Given the description of an element on the screen output the (x, y) to click on. 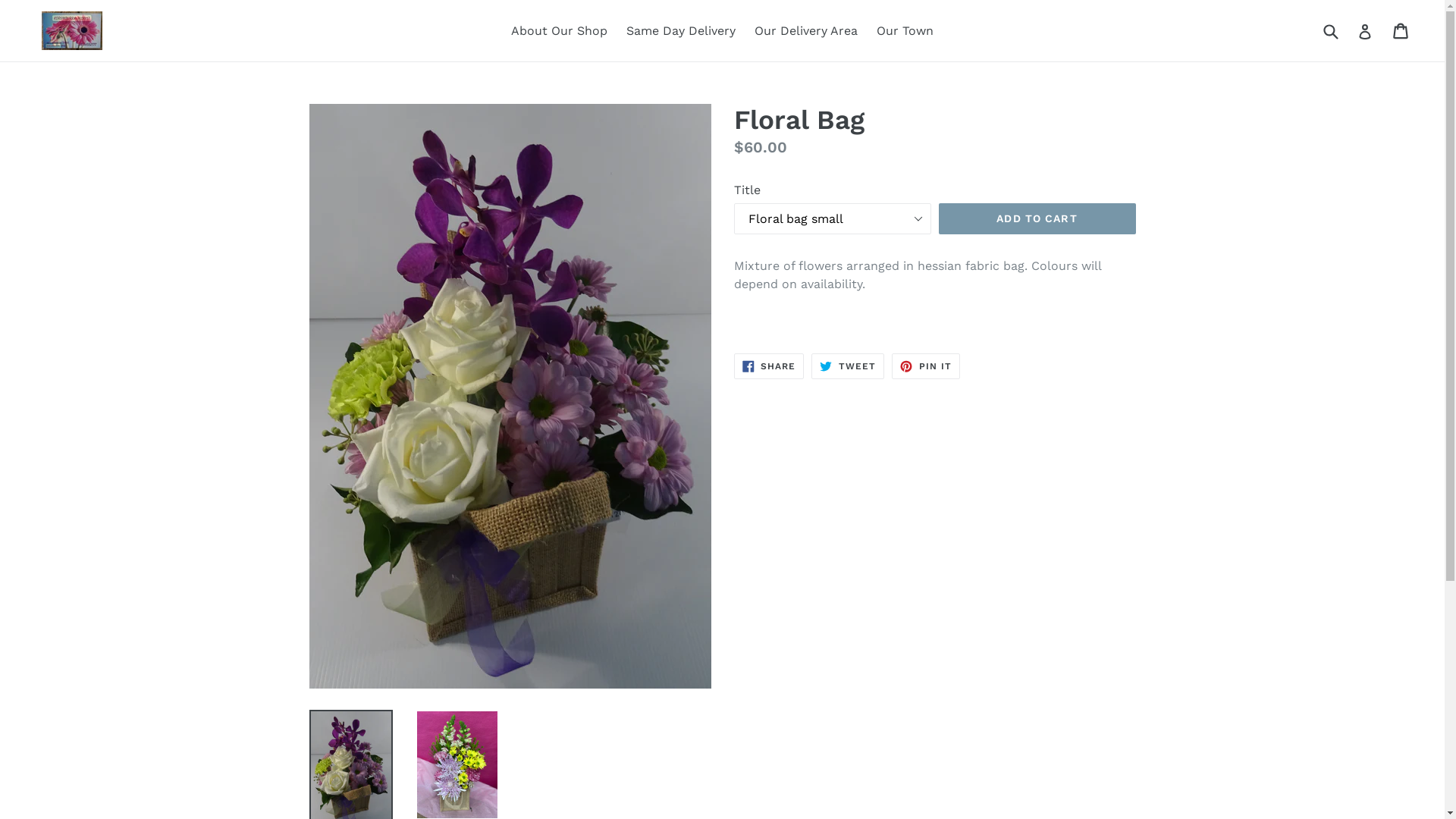
About Our Shop Element type: text (559, 30)
TWEET
TWEET ON TWITTER Element type: text (847, 366)
Our Delivery Area Element type: text (805, 30)
ADD TO CART Element type: text (1036, 219)
Log in Element type: text (1364, 30)
Submit Element type: text (1329, 30)
Same Day Delivery Element type: text (680, 30)
Cart
Cart Element type: text (1401, 30)
Our Town Element type: text (905, 30)
PIN IT
PIN ON PINTEREST Element type: text (925, 366)
SHARE
SHARE ON FACEBOOK Element type: text (769, 366)
